Given the description of an element on the screen output the (x, y) to click on. 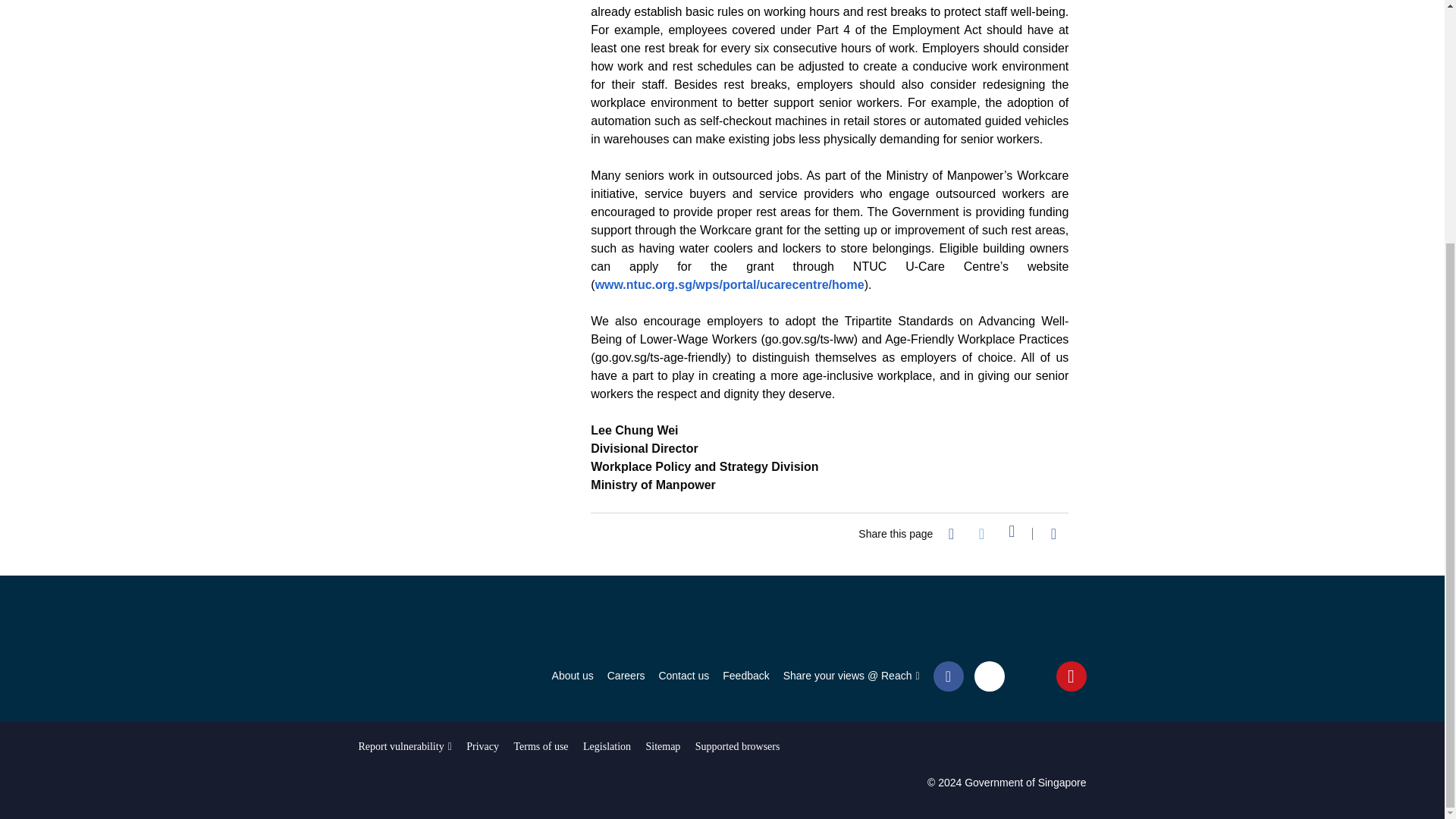
View our YouTube Channel (1070, 675)
Share this page on facebook (951, 534)
Ministry of Manpower (413, 624)
Find us on LinkedIn (989, 675)
Find us on Telegram (1029, 675)
Contact us (683, 677)
Print this page (1053, 534)
Ministry of Manpower youtube channel (1070, 675)
Ministry of Manpower Telegram (1029, 675)
Tweet this page (980, 534)
Find us on Facebook (947, 675)
Legislation (606, 746)
Feedback (745, 677)
About us (572, 677)
Ministry of Manpower Facebook page (947, 675)
